Given the description of an element on the screen output the (x, y) to click on. 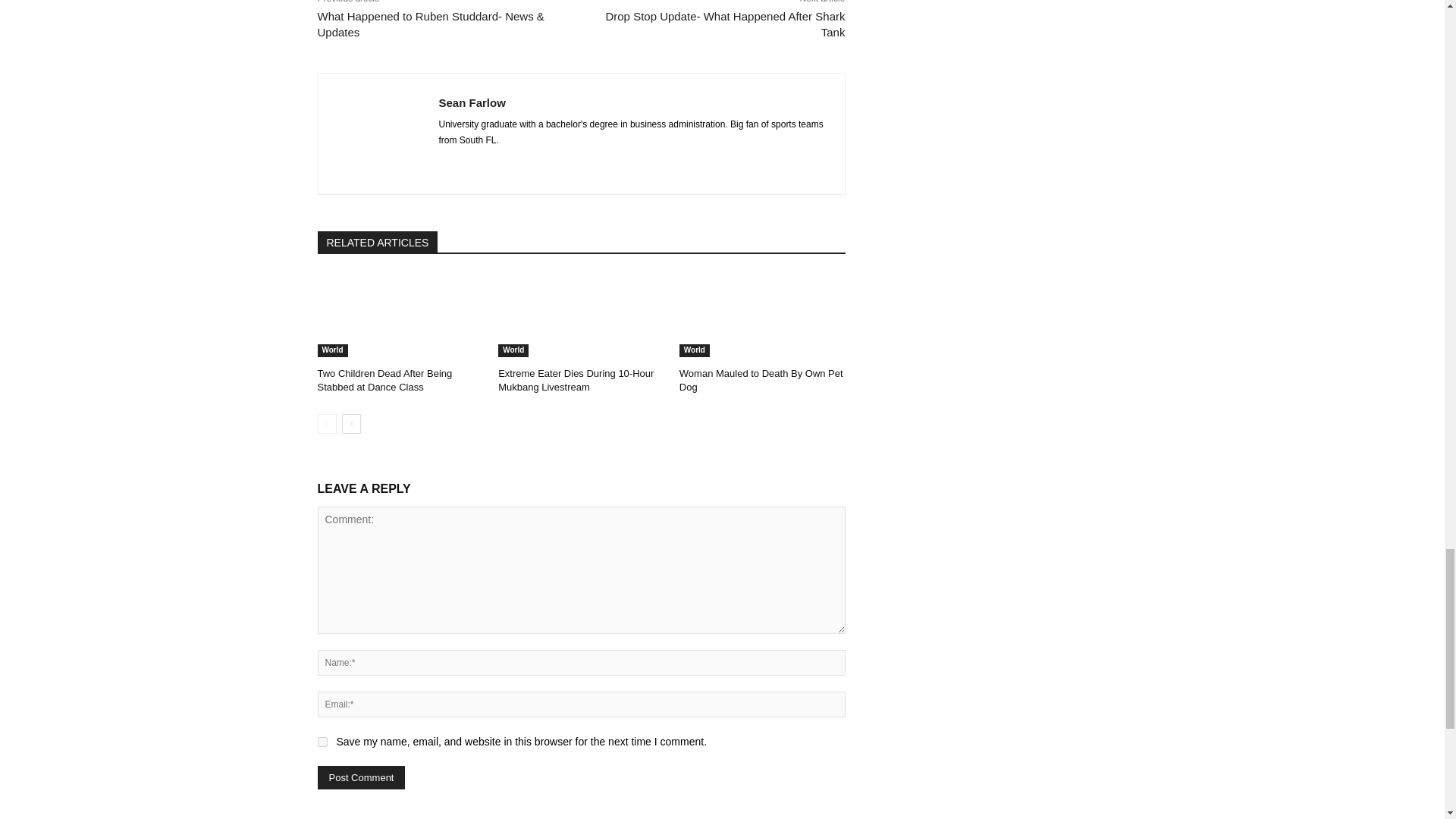
yes (321, 741)
Post Comment (360, 777)
Sean Farlow (377, 133)
